Given the description of an element on the screen output the (x, y) to click on. 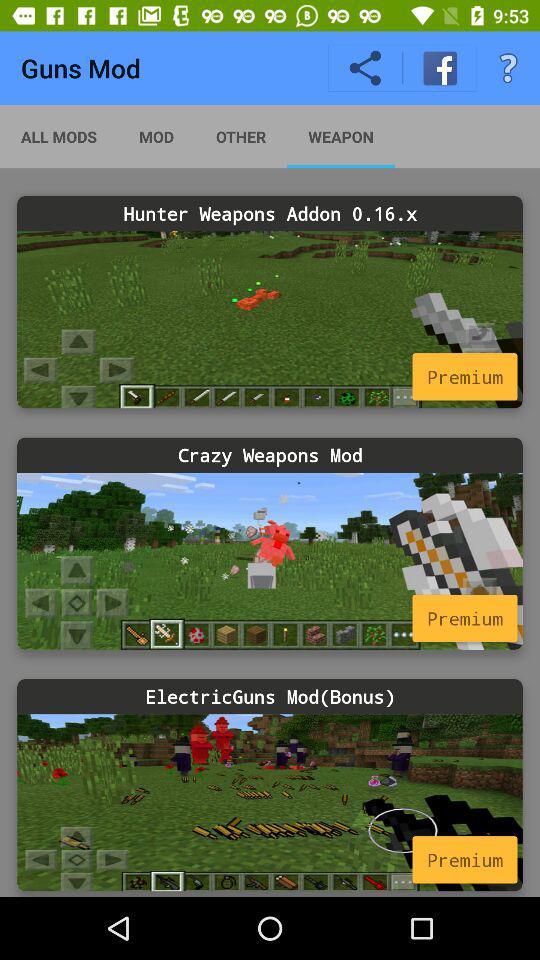
tap the all mods (59, 136)
